Given the description of an element on the screen output the (x, y) to click on. 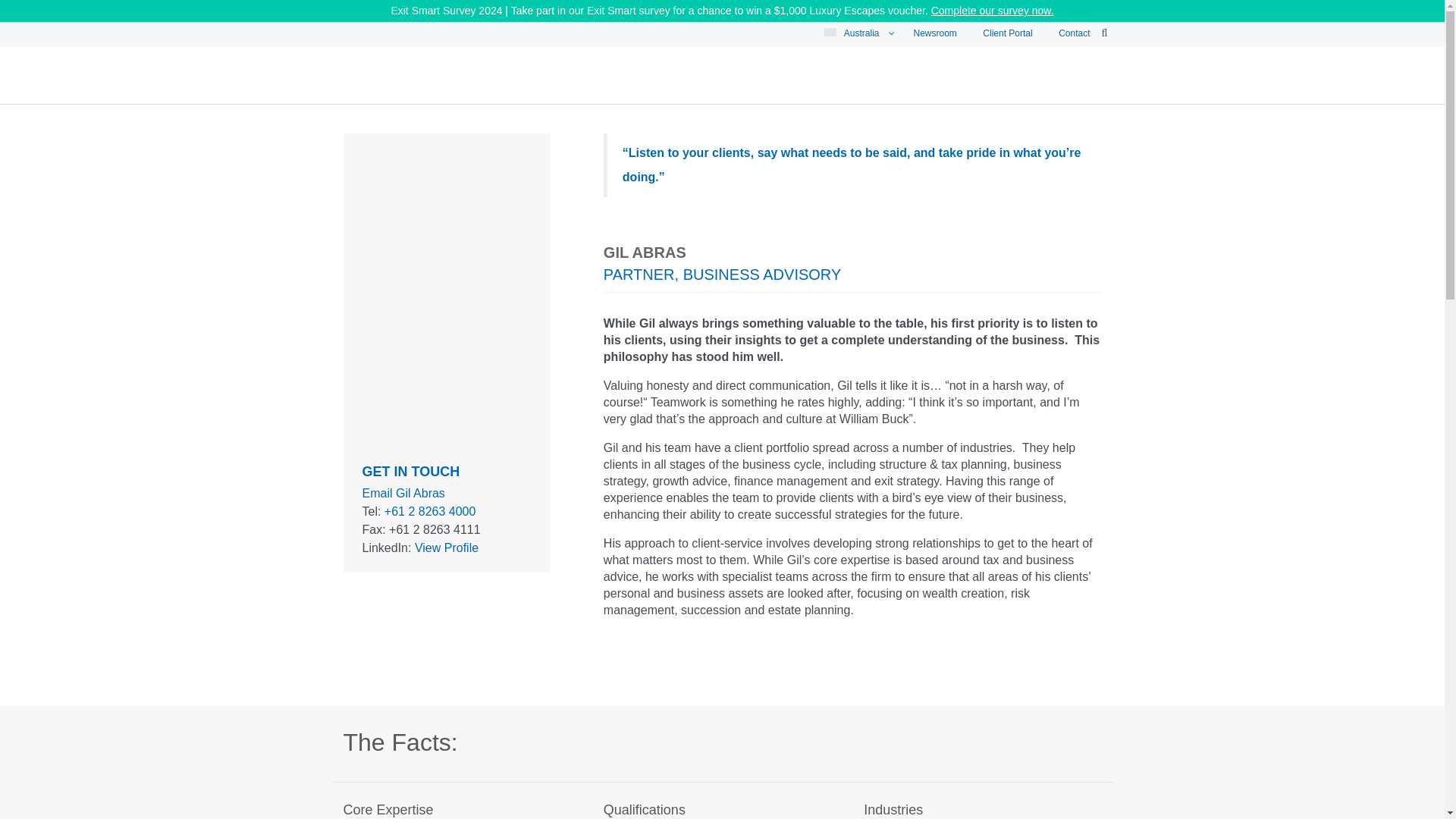
WILLIAM BUCK AUSTRALIA (537, 110)
Newsroom (935, 32)
Complete our survey now. (992, 10)
Client Portal (1007, 32)
Contact (1073, 32)
